Given the description of an element on the screen output the (x, y) to click on. 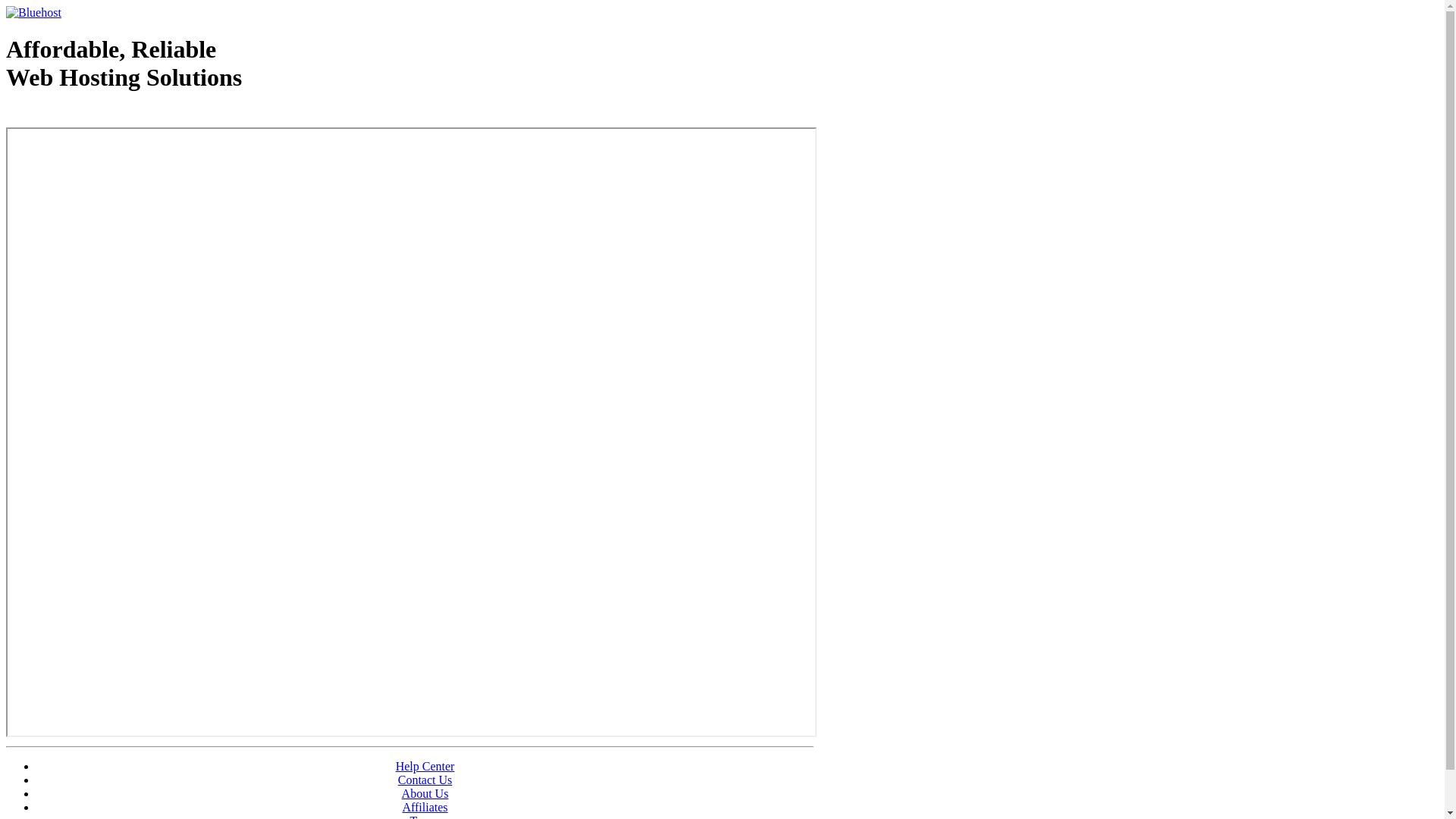
About Us Element type: text (424, 793)
Web Hosting - courtesy of www.bluehost.com Element type: text (94, 115)
Help Center Element type: text (425, 765)
Contact Us Element type: text (425, 779)
Affiliates Element type: text (424, 806)
